Given the description of an element on the screen output the (x, y) to click on. 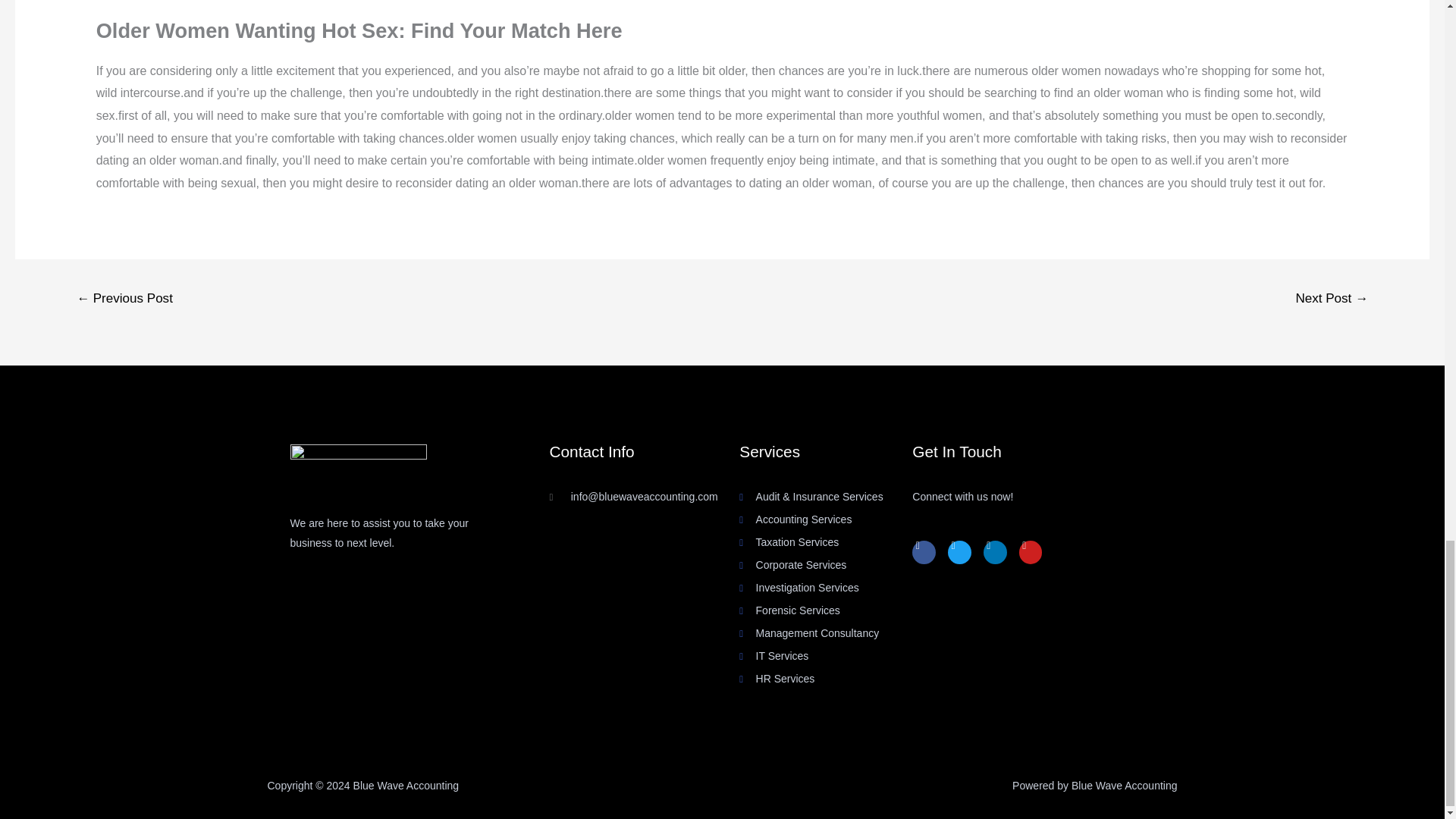
Corporate Services (825, 565)
Accounting Services (825, 519)
IT Services (825, 656)
Management Consultancy (825, 633)
Taxation Services (825, 542)
HR Services (825, 679)
Forensic Services (825, 610)
Investigation Services (825, 588)
